Given the description of an element on the screen output the (x, y) to click on. 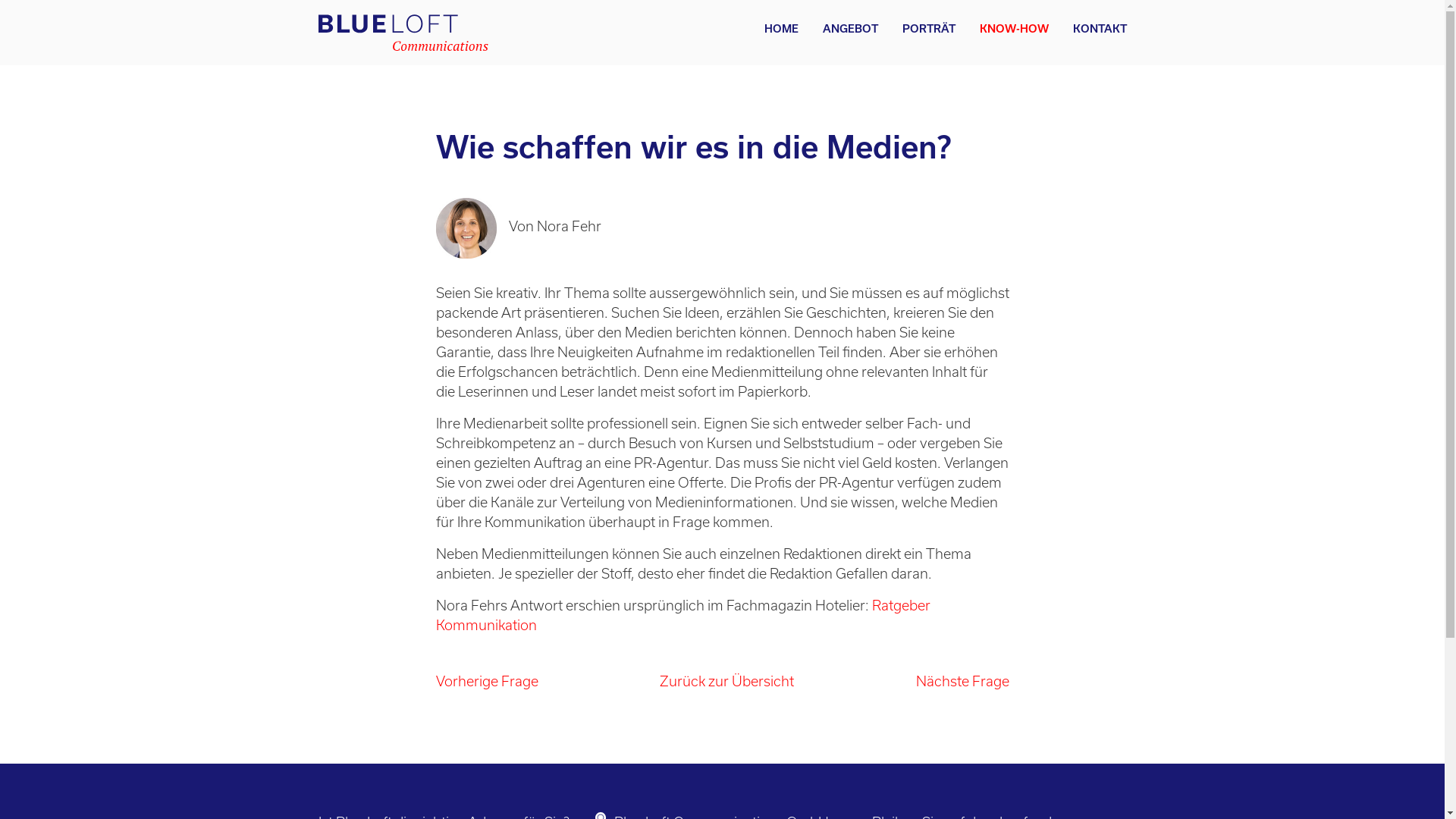
HOME Element type: text (781, 28)
KONTAKT Element type: text (1093, 28)
Vorherige Frage Element type: text (486, 680)
KNOW-HOW Element type: text (1013, 28)
Ratgeber Kommunikation Element type: text (682, 614)
ANGEBOT Element type: text (849, 28)
